Given the description of an element on the screen output the (x, y) to click on. 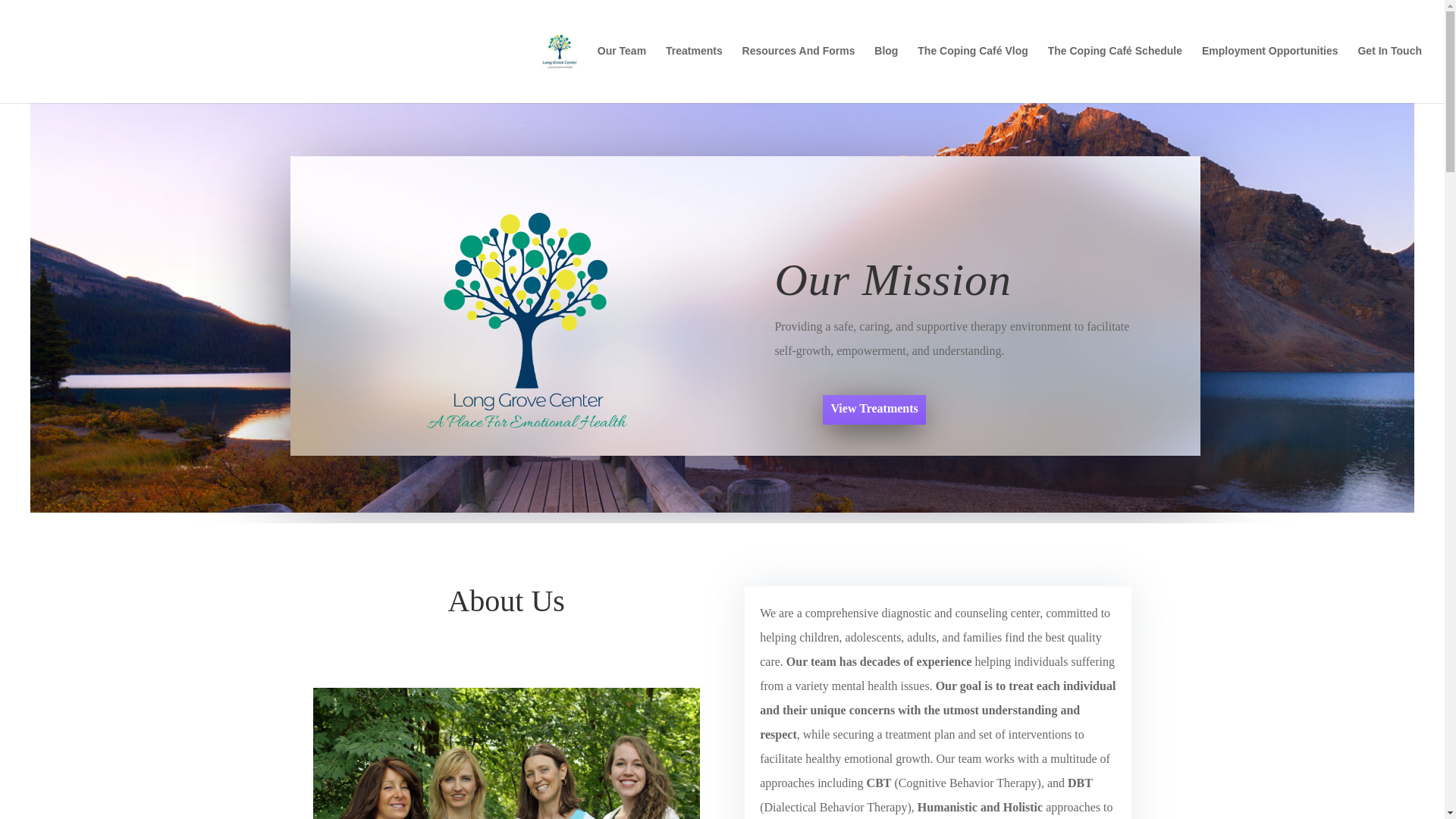
Get In Touch (1389, 67)
Our Team (621, 67)
Resources And Forms (799, 67)
Treatments (693, 67)
Employment Opportunities (1270, 67)
Long Grove Staff (505, 753)
View Treatments (873, 409)
Blog (886, 67)
